Given the description of an element on the screen output the (x, y) to click on. 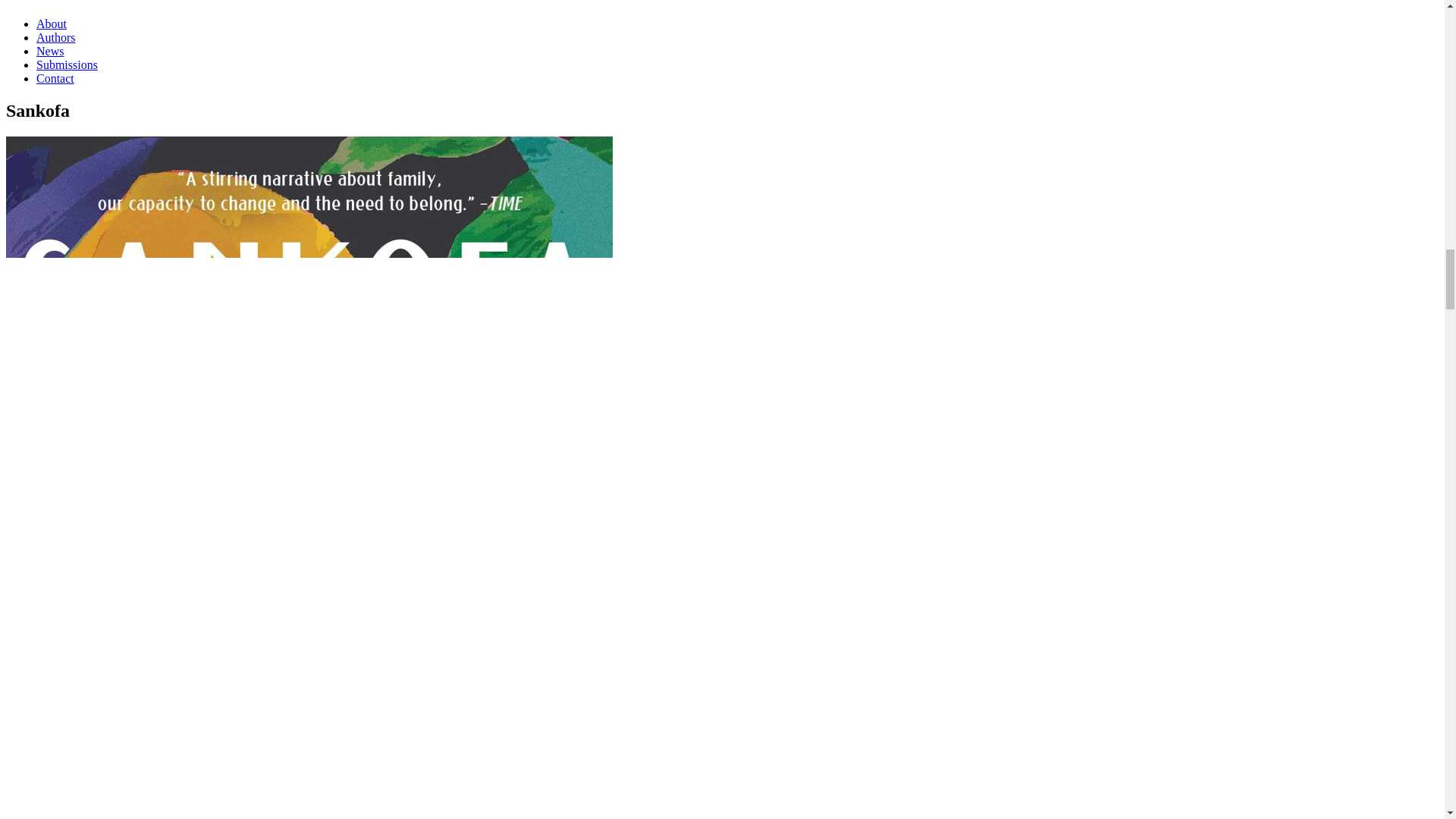
About (51, 23)
Authors (55, 37)
Contact (55, 78)
News (50, 51)
Submissions (66, 64)
